Given the description of an element on the screen output the (x, y) to click on. 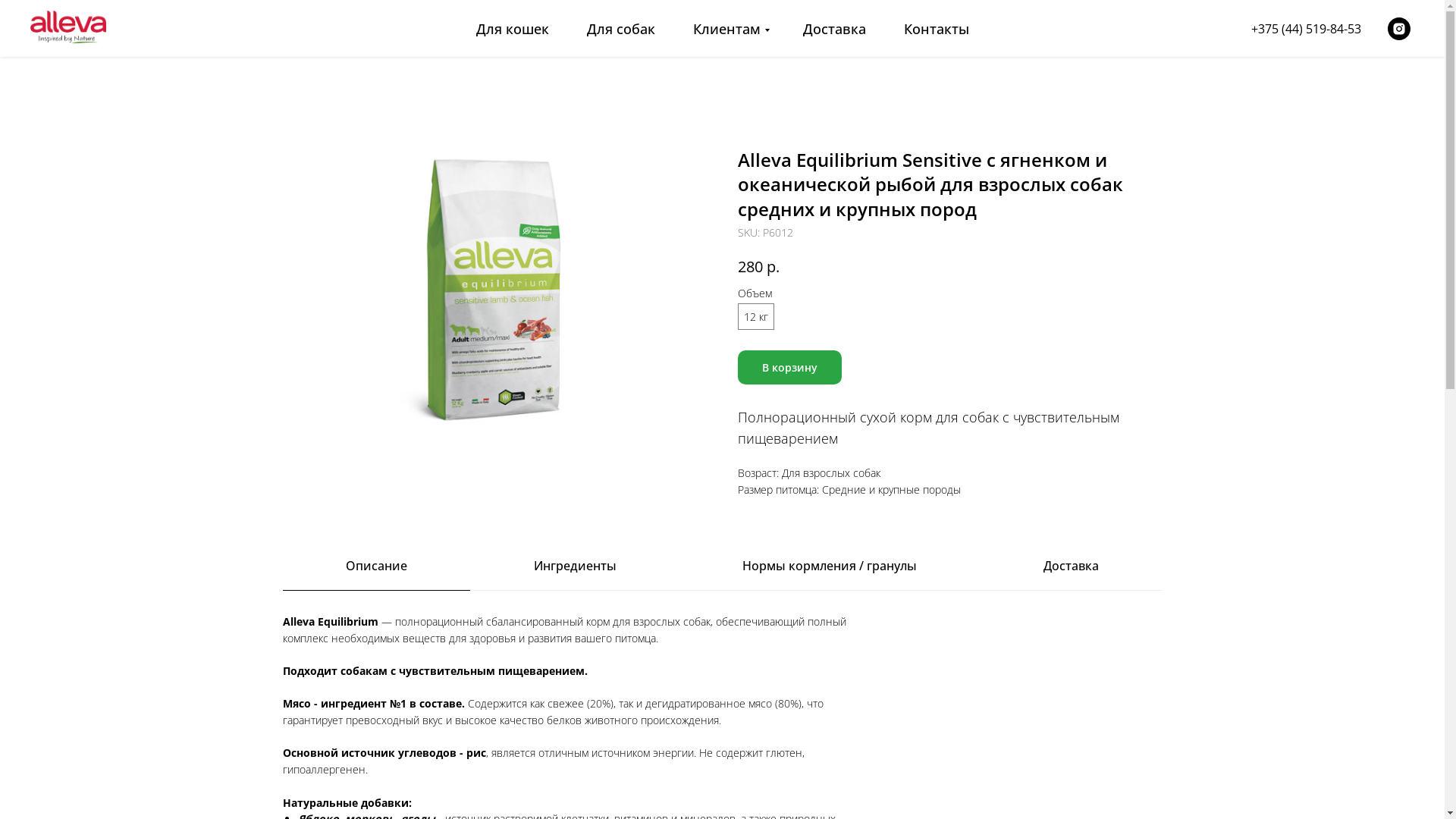
+375 (44) 519-84-53 Element type: text (1306, 27)
